Given the description of an element on the screen output the (x, y) to click on. 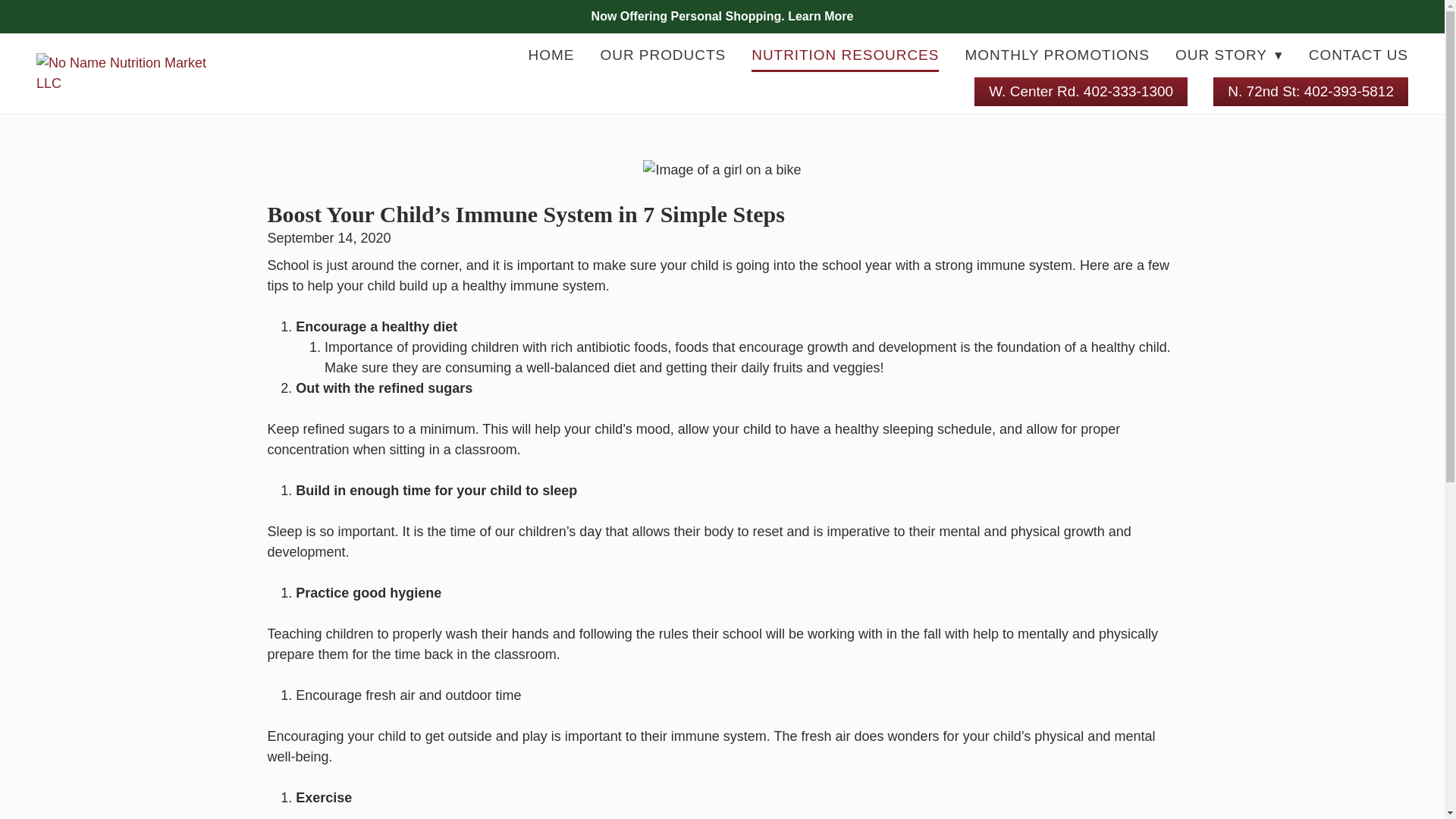
HOME (551, 54)
OUR PRODUCTS (662, 54)
Image of a girl on a bike (721, 169)
W. Center Rd. 402-333-1300 (1081, 91)
N. 72nd St: 402-393-5812 (1309, 91)
No Name Nutrition Market LLC (127, 73)
NUTRITION RESOURCES (845, 54)
MONTHLY PROMOTIONS (1057, 54)
CONTACT US (1357, 54)
Learn More (820, 15)
